Given the description of an element on the screen output the (x, y) to click on. 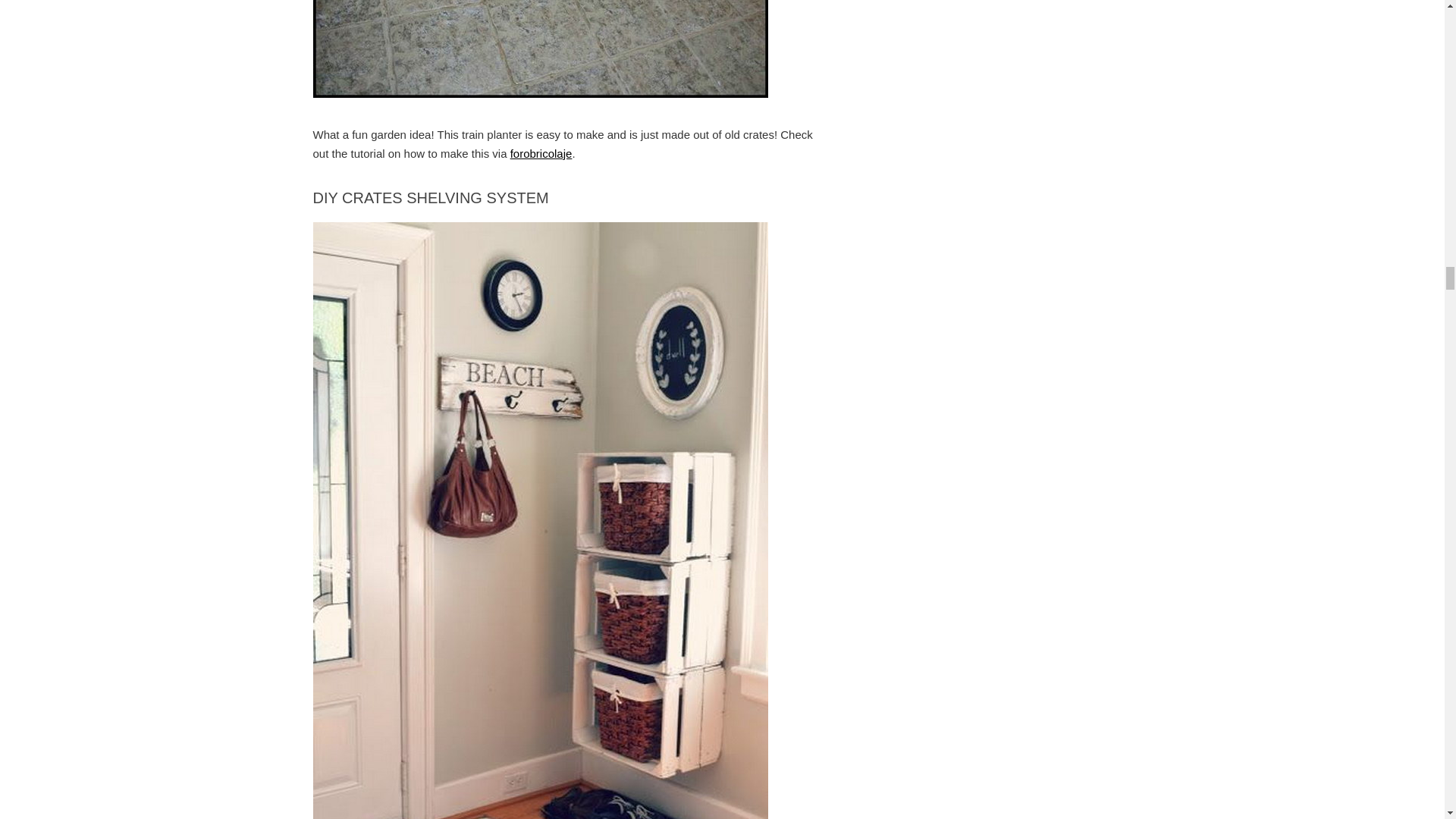
forobricolaje (541, 153)
